Given the description of an element on the screen output the (x, y) to click on. 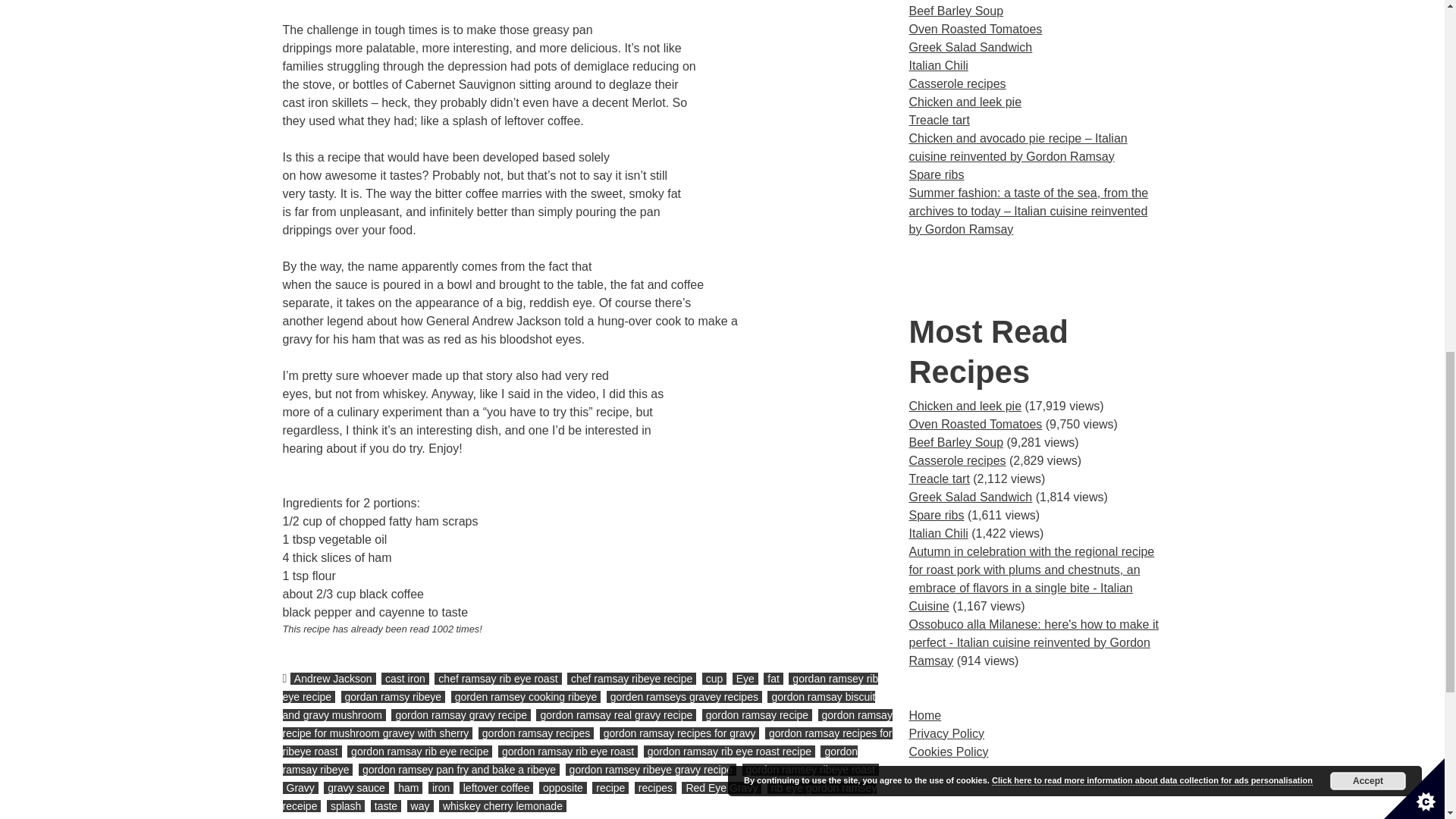
gordon ramsay recipe (756, 715)
gordon ramsay ribeye (569, 760)
chef ramsay rib eye roast (496, 678)
gordon ramsay gravy recipe (461, 715)
gravy sauce (355, 787)
gordon ramsay recipes for gravy (679, 733)
opposite (562, 787)
cup (713, 678)
Gravy (299, 787)
gordon ramsay real gravy recipe (615, 715)
Beef Barley Soup (955, 441)
gordan ramsy ribeye (392, 696)
gordon ramsay recipes for ribeye roast (586, 742)
Oven Roasted Tomatoes (975, 423)
Italian Chili (938, 533)
